Given the description of an element on the screen output the (x, y) to click on. 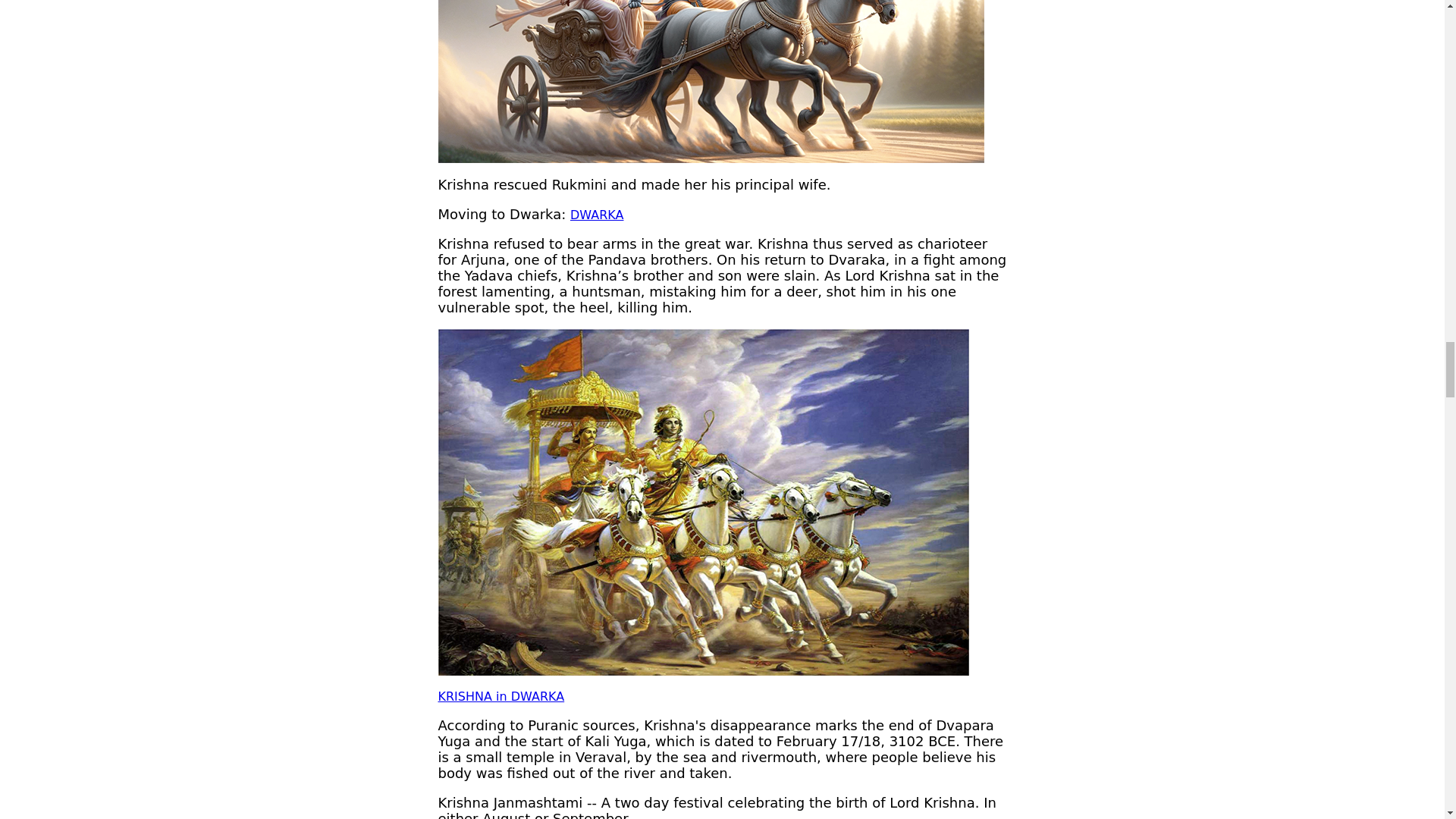
DWARKA (596, 214)
KRISHNA in DWARKA (501, 696)
